Given the description of an element on the screen output the (x, y) to click on. 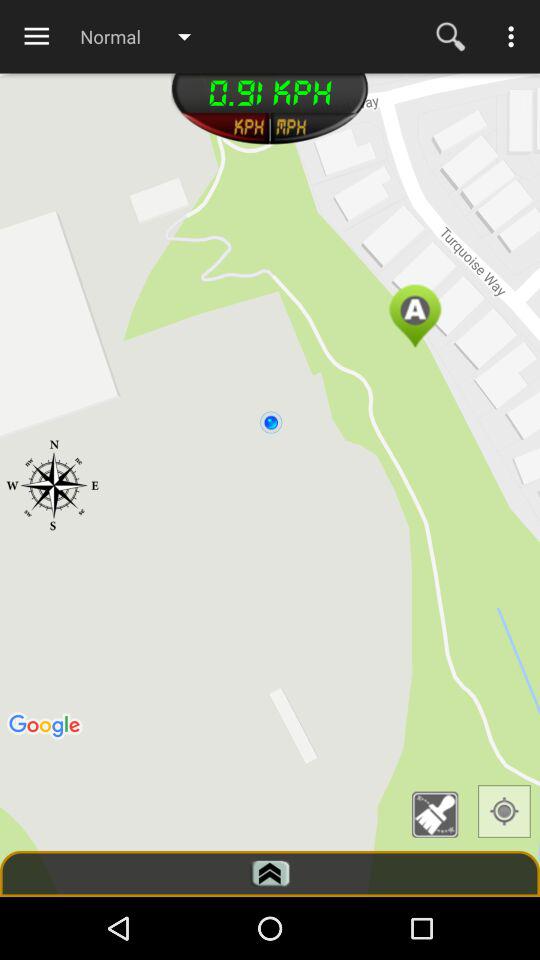
go to map (504, 811)
